Given the description of an element on the screen output the (x, y) to click on. 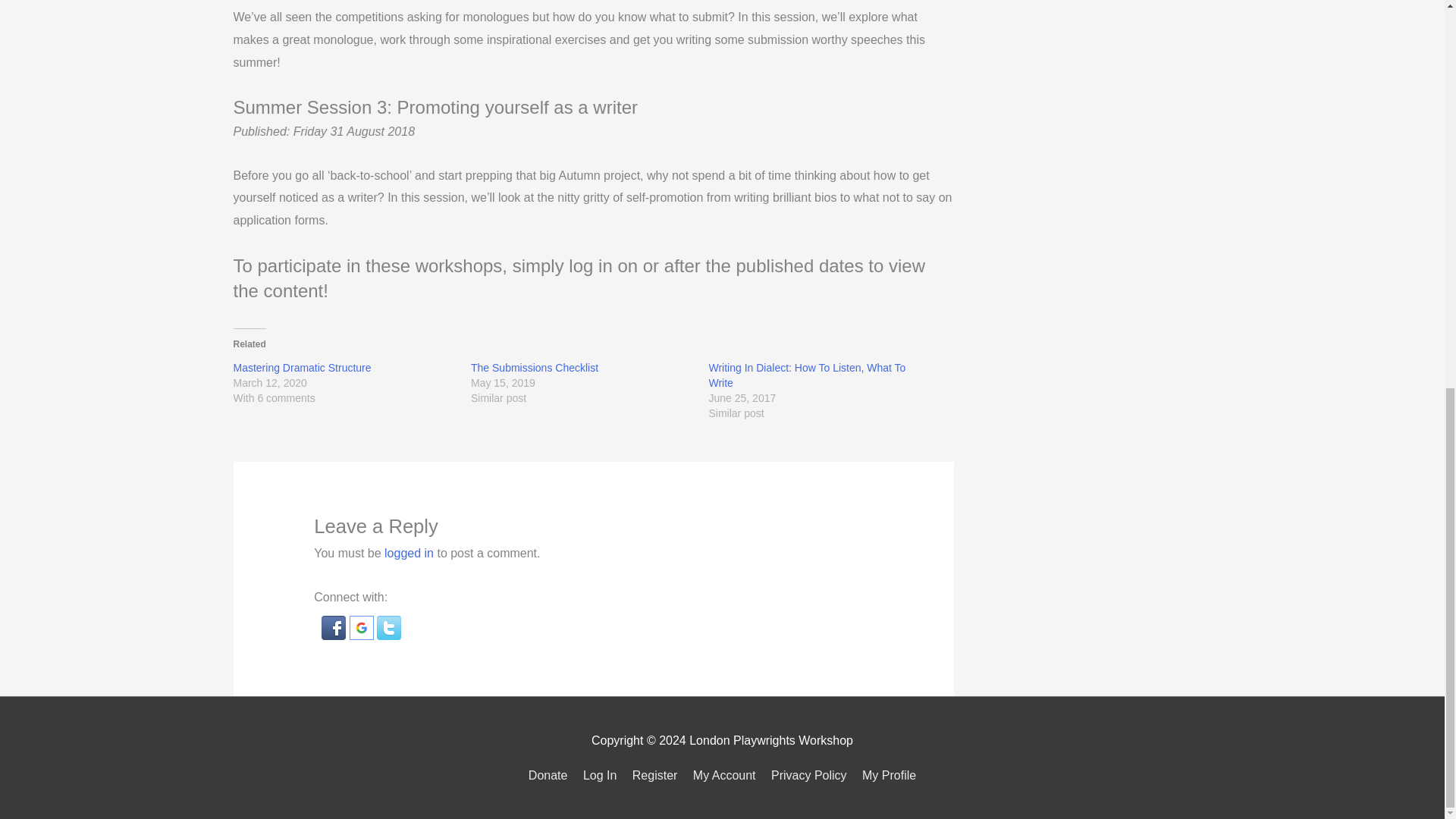
Log In (599, 775)
Mastering Dramatic Structure (301, 367)
The Submissions Checklist (534, 367)
Writing In Dialect: How To Listen, What To Write (806, 375)
The Submissions Checklist (534, 367)
Privacy Policy (809, 775)
Writing In Dialect: How To Listen, What To Write (806, 375)
Connect with Google (363, 626)
Connect with Twitter (389, 626)
My Account (724, 775)
